Given the description of an element on the screen output the (x, y) to click on. 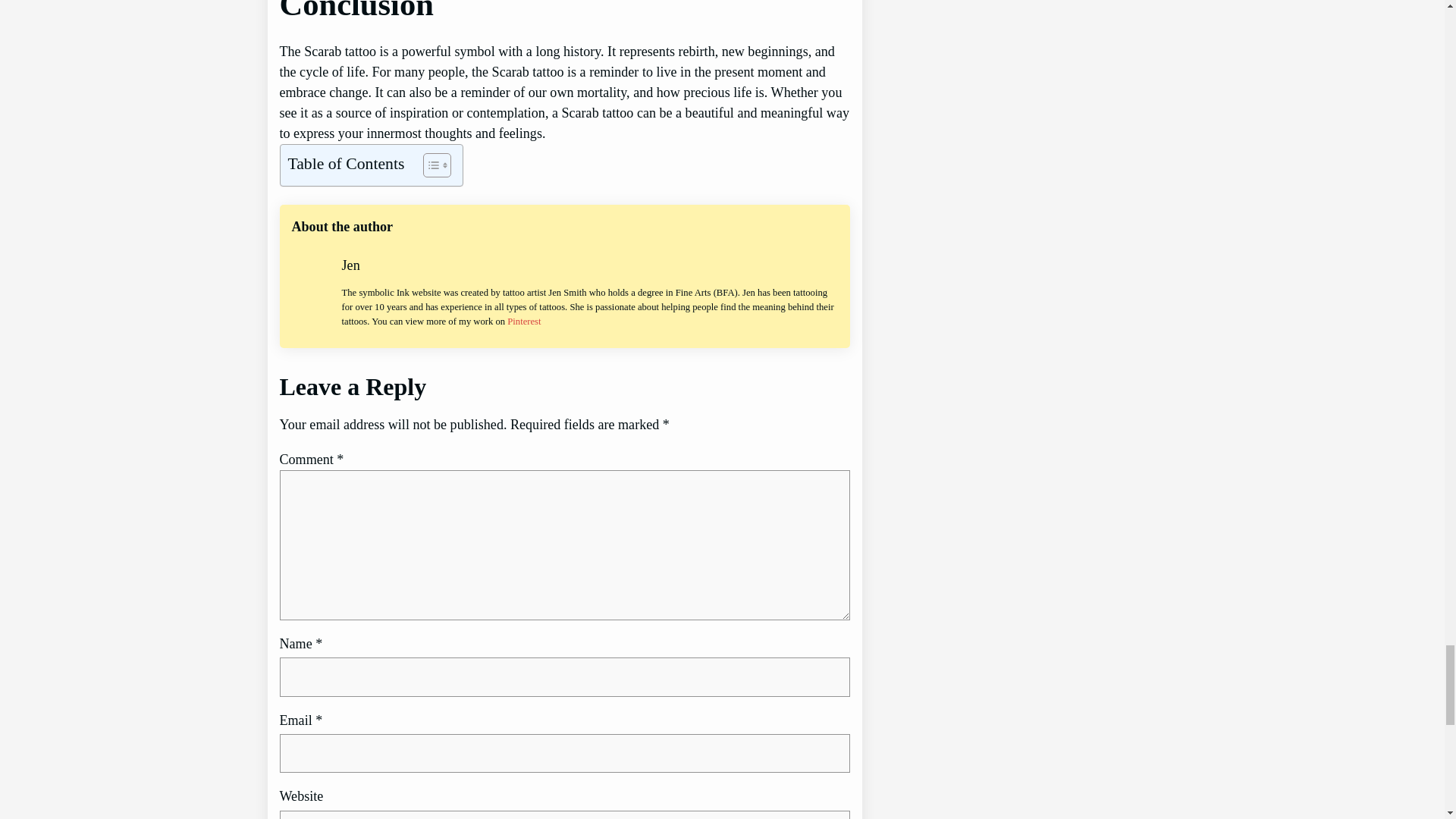
Pinterest (523, 321)
